Given the description of an element on the screen output the (x, y) to click on. 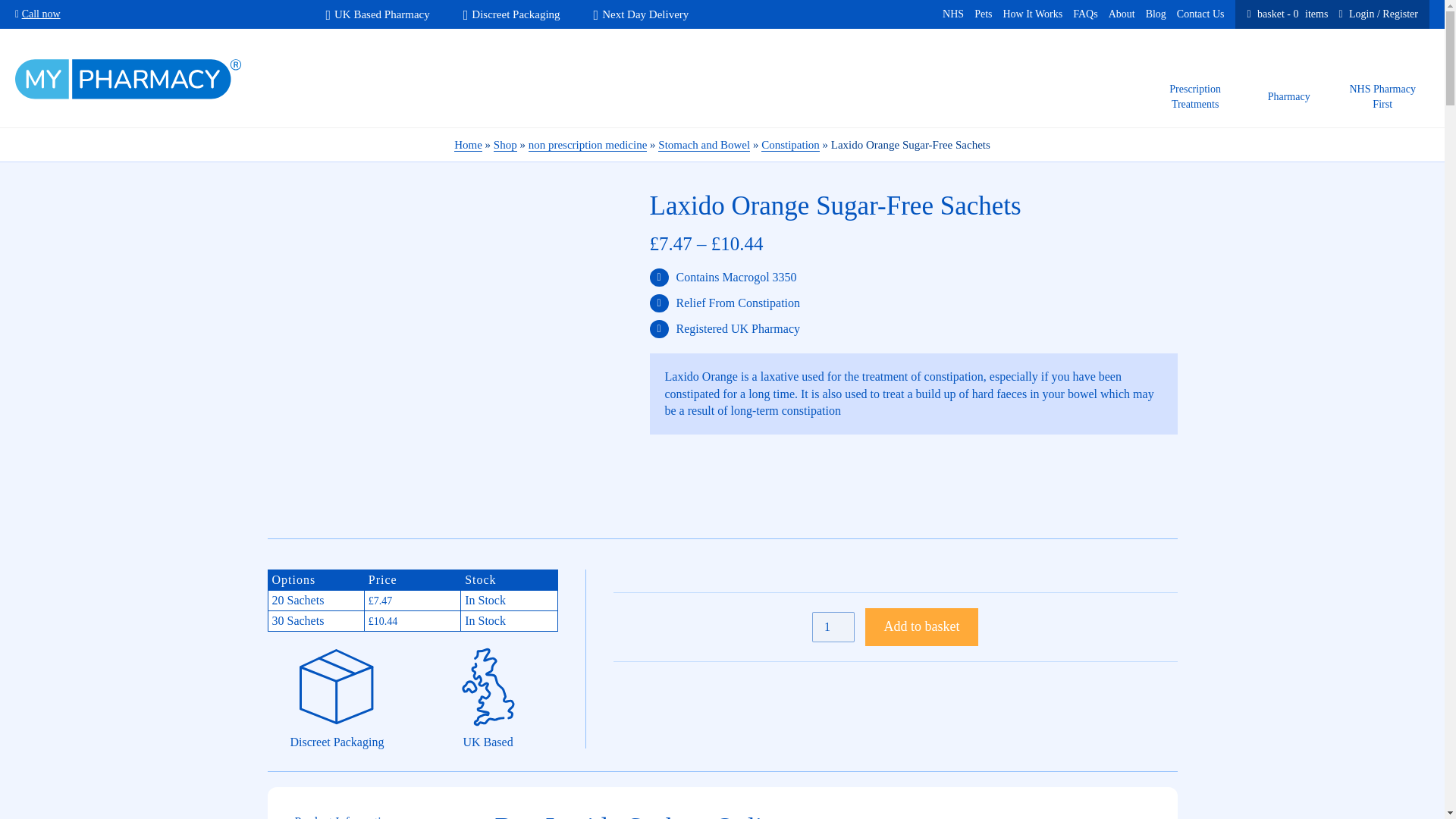
Go to the MyPharmacy 		Home Page (128, 78)
View your shopping cart (380, 810)
1 (1287, 13)
